Given the description of an element on the screen output the (x, y) to click on. 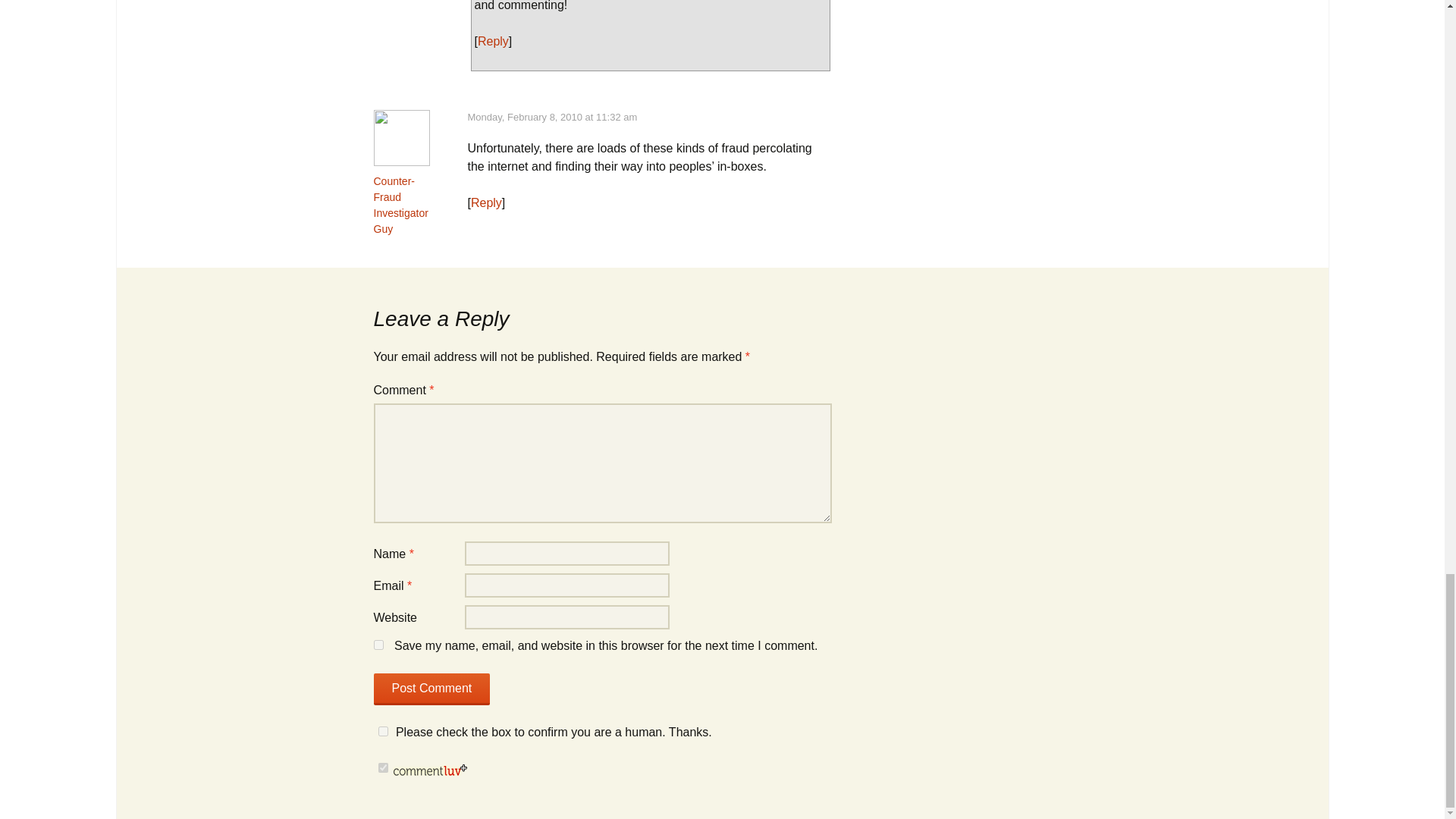
on (381, 767)
Reply (486, 202)
Counter-Fraud Investigator Guy (400, 205)
Post Comment (430, 689)
on (381, 731)
yes (377, 644)
Reply (492, 41)
Monday, February 8, 2010 at 11:32 am (552, 116)
CommentLuv is enabled (430, 768)
Post Comment (430, 689)
